Given the description of an element on the screen output the (x, y) to click on. 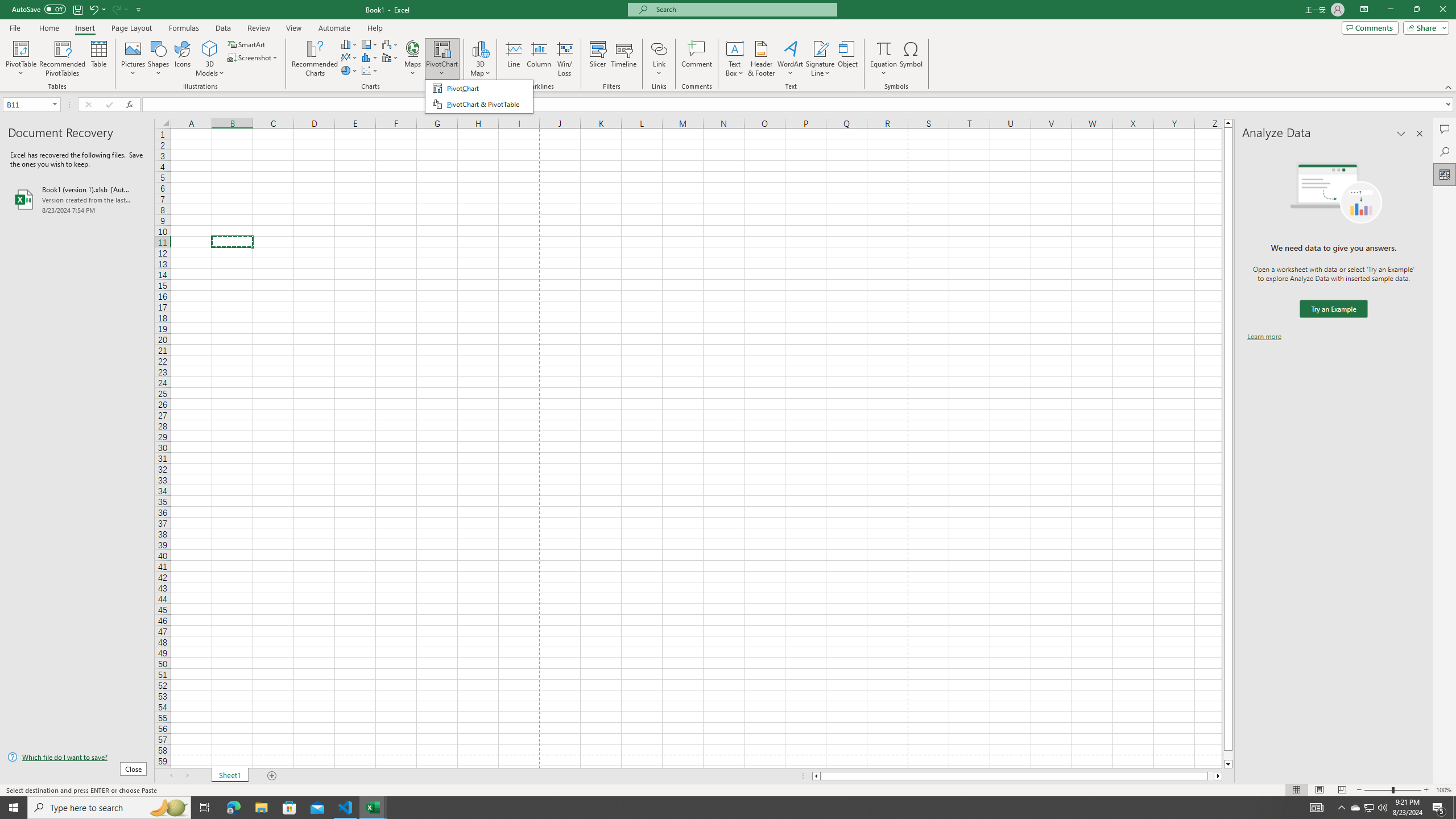
Icons (182, 58)
Book1 (version 1).xlsb  [AutoRecovered] (77, 199)
Collapse the Ribbon (1448, 86)
Slicer... (597, 58)
Insert Statistic Chart (369, 56)
Link (659, 48)
